Given the description of an element on the screen output the (x, y) to click on. 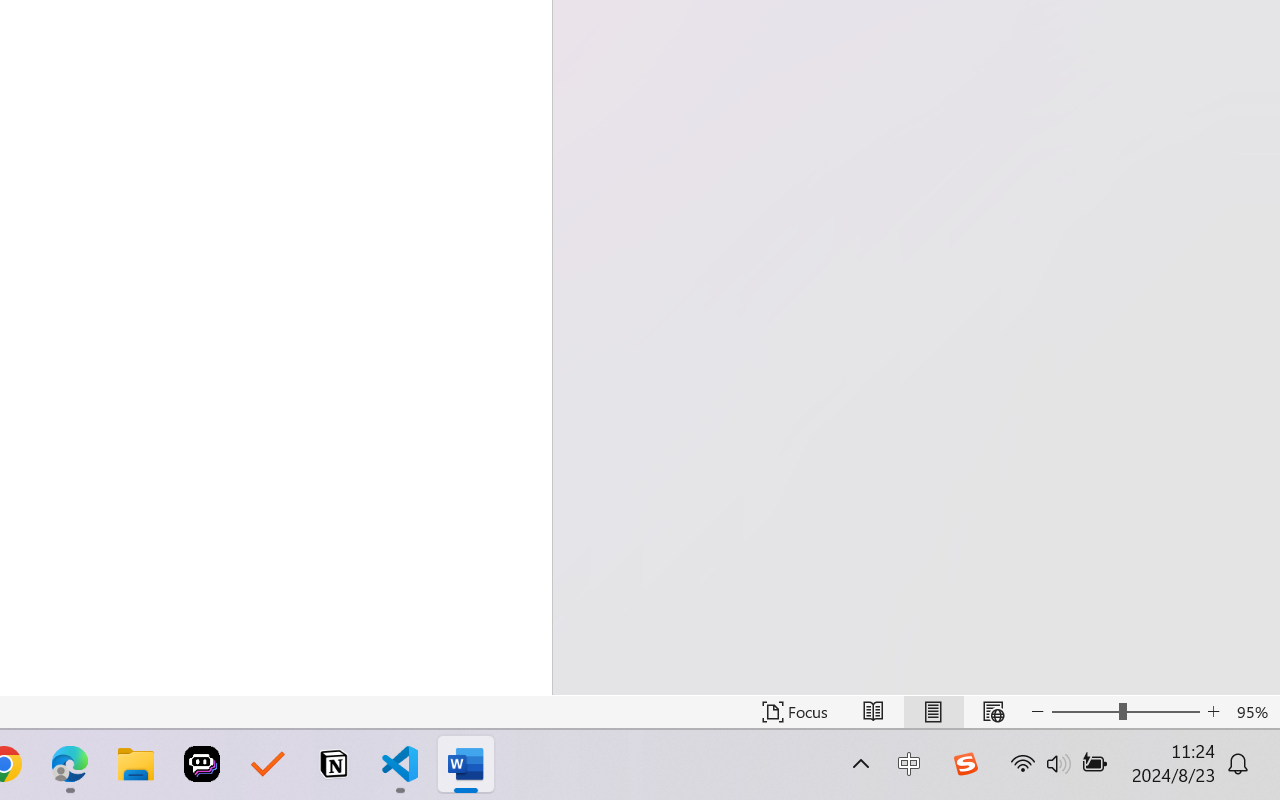
Zoom 95% (1253, 712)
